Given the description of an element on the screen output the (x, y) to click on. 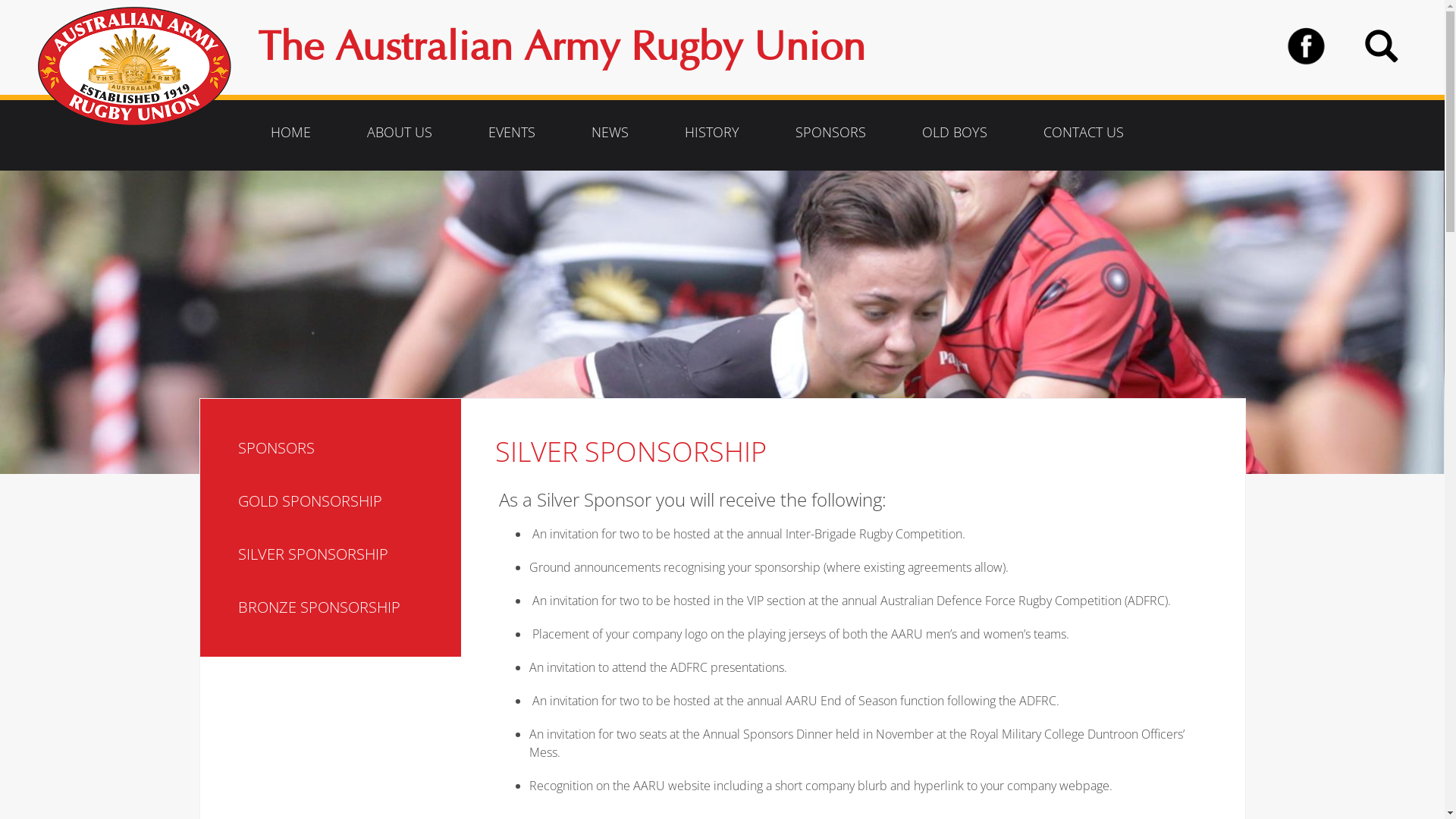
HOME Element type: text (290, 131)
NEWS Element type: text (610, 131)
SPONSORS Element type: text (830, 131)
HISTORY Element type: text (711, 131)
BRONZE SPONSORSHIP Element type: text (344, 606)
SILVER SPONSORSHIP Element type: text (344, 553)
EVENTS Element type: text (511, 131)
SPONSORS Element type: text (344, 447)
GOLD SPONSORSHIP Element type: text (344, 500)
OLD BOYS Element type: text (954, 131)
Skip to main content Element type: text (0, 170)
CONTACT US Element type: text (1083, 131)
Home Element type: hover (139, 66)
ABOUT US Element type: text (399, 131)
